Given the description of an element on the screen output the (x, y) to click on. 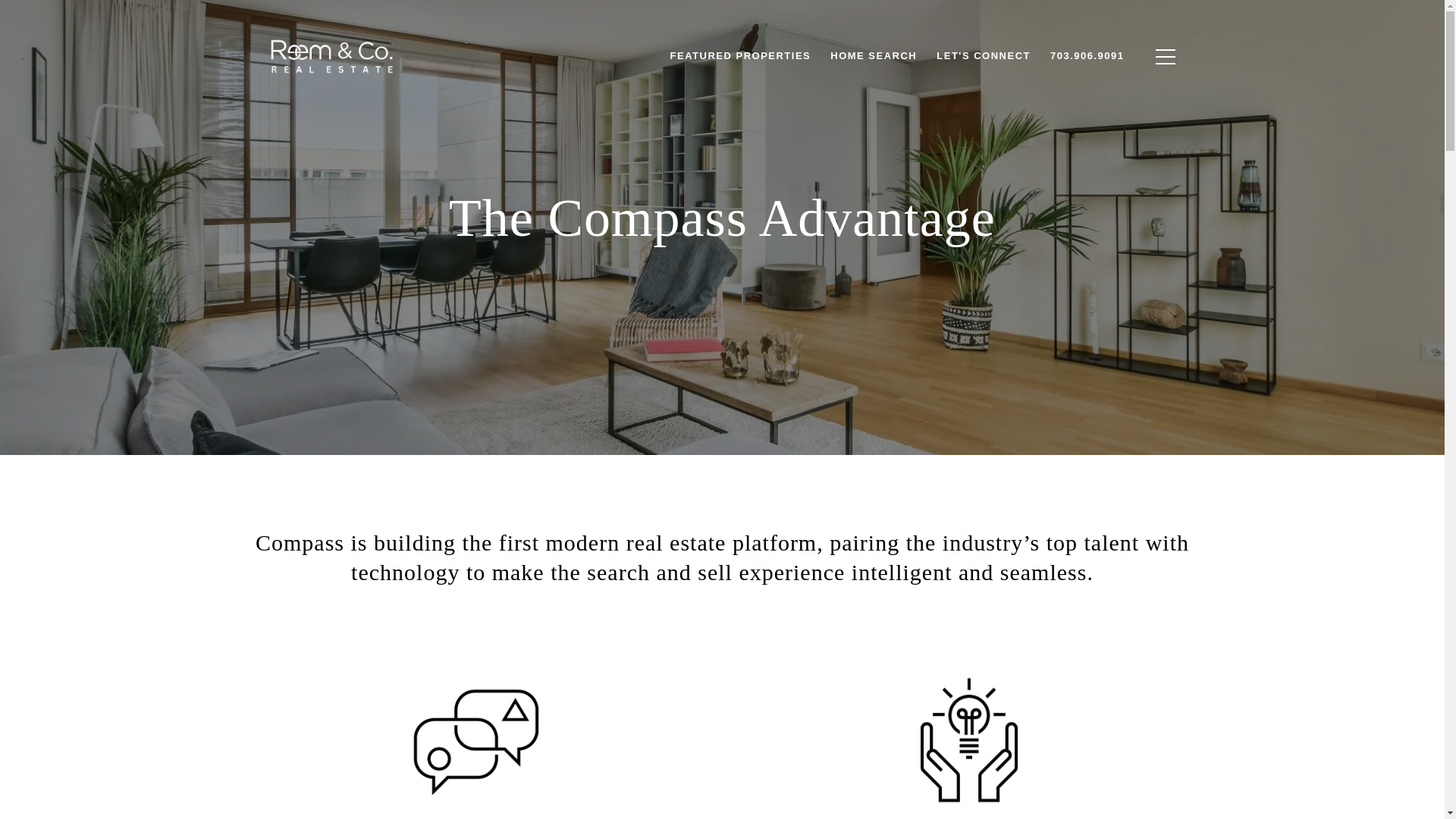
LET'S CONNECT (983, 55)
HOME SEARCH (873, 55)
703.906.9091 (1087, 55)
FEATURED PROPERTIES (741, 55)
